Given the description of an element on the screen output the (x, y) to click on. 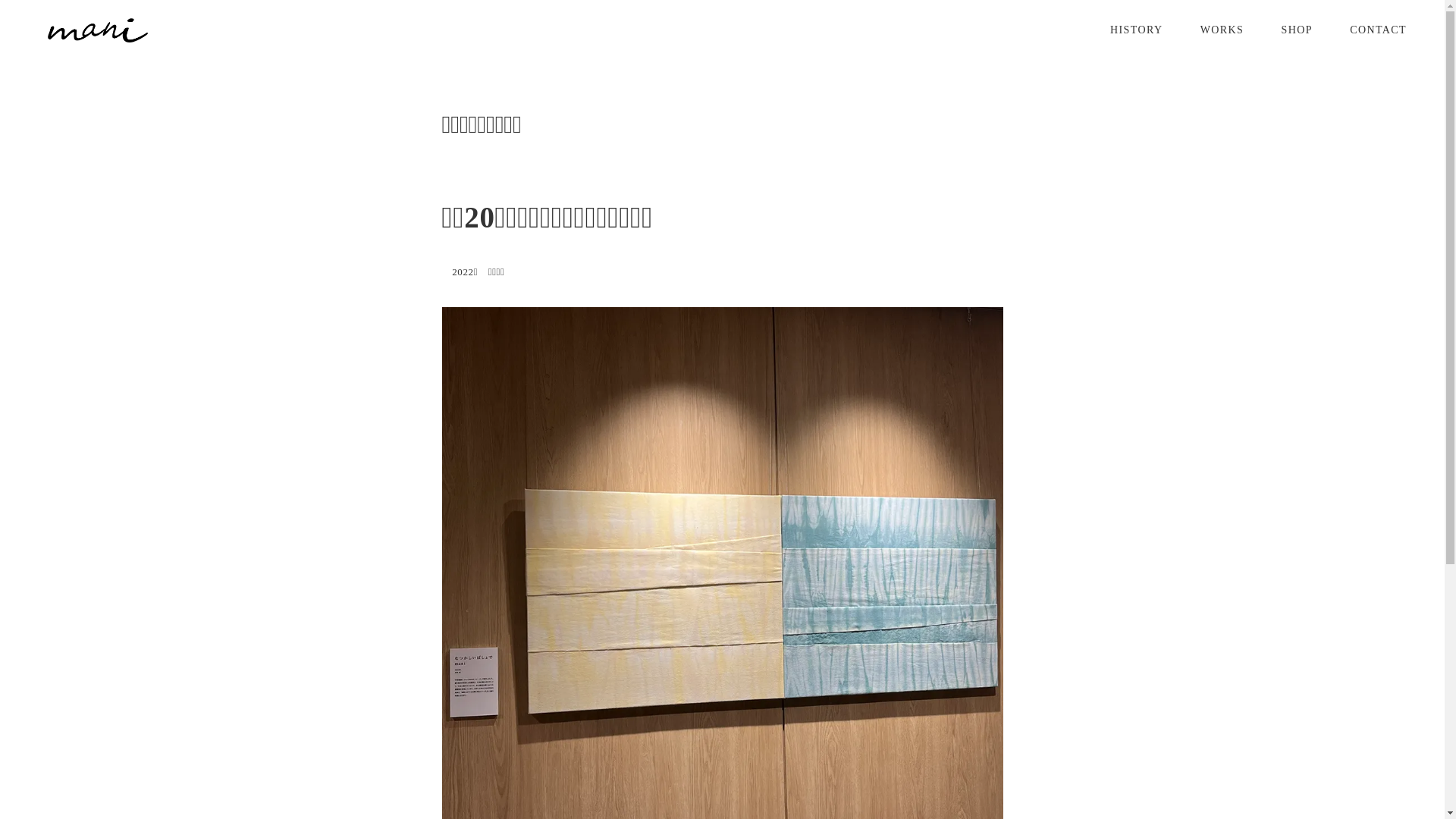
SHOP Element type: text (1296, 29)
CONTACT Element type: text (1377, 29)
WORKS Element type: text (1222, 29)
HISTORY Element type: text (1136, 29)
